Given the description of an element on the screen output the (x, y) to click on. 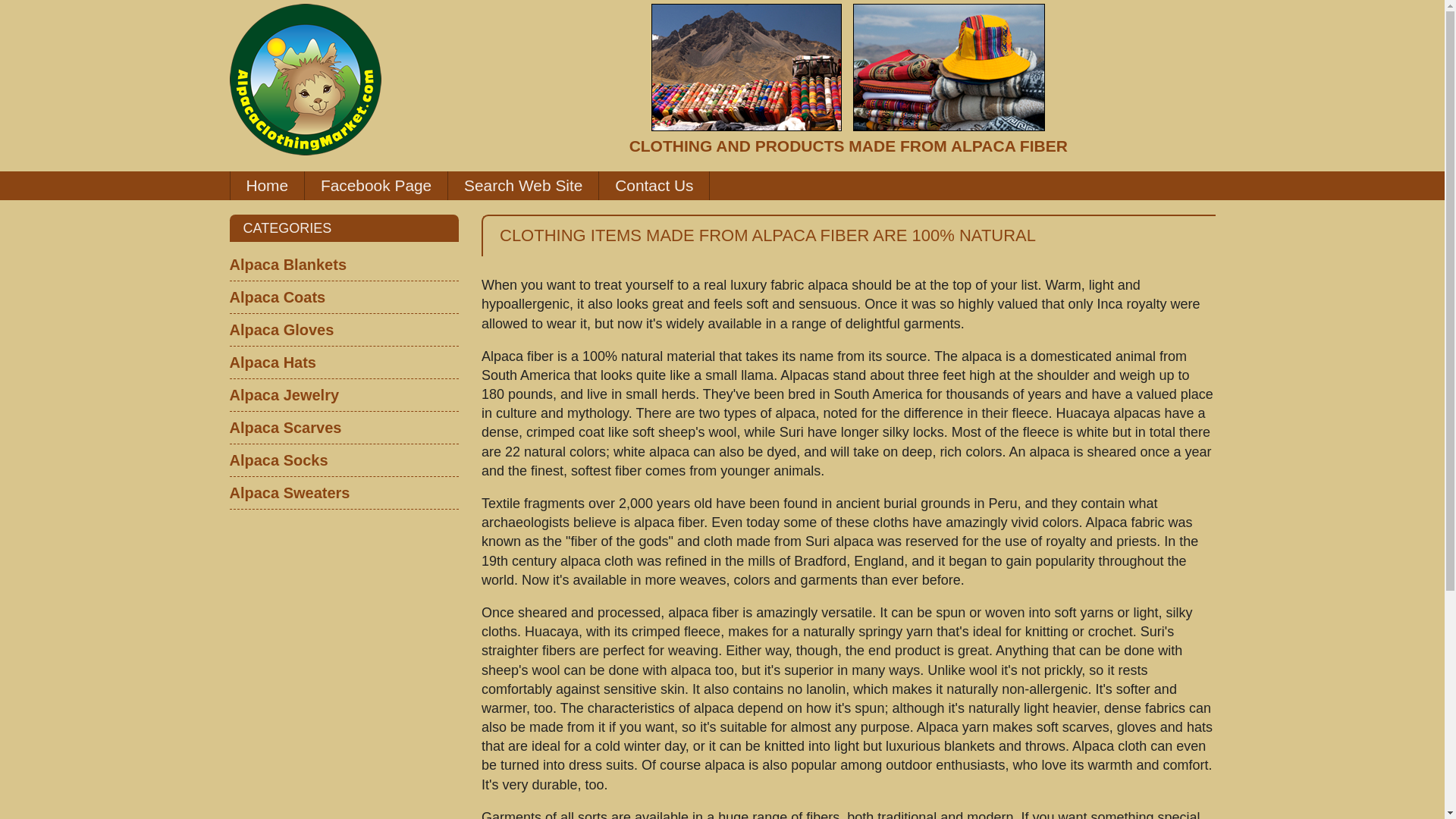
Alpaca Socks (343, 459)
Alpaca Hats (343, 361)
Alpaca Gloves (343, 328)
Alpaca Scarves (343, 427)
Alpaca Jewelry (343, 394)
Alpaca Clothing Market - Alpaca Clothing and Products Store (304, 79)
Facebook Page (375, 185)
Alpaca Hat and Blankets displaying Andean colors (949, 67)
Home (267, 185)
Alpaca Coats (343, 296)
Alpaca Blankets (343, 264)
Alpaca Sweaters (343, 492)
Search Web Site (523, 185)
Contact Us (653, 185)
Andean made Alpaca Blankets (745, 67)
